Given the description of an element on the screen output the (x, y) to click on. 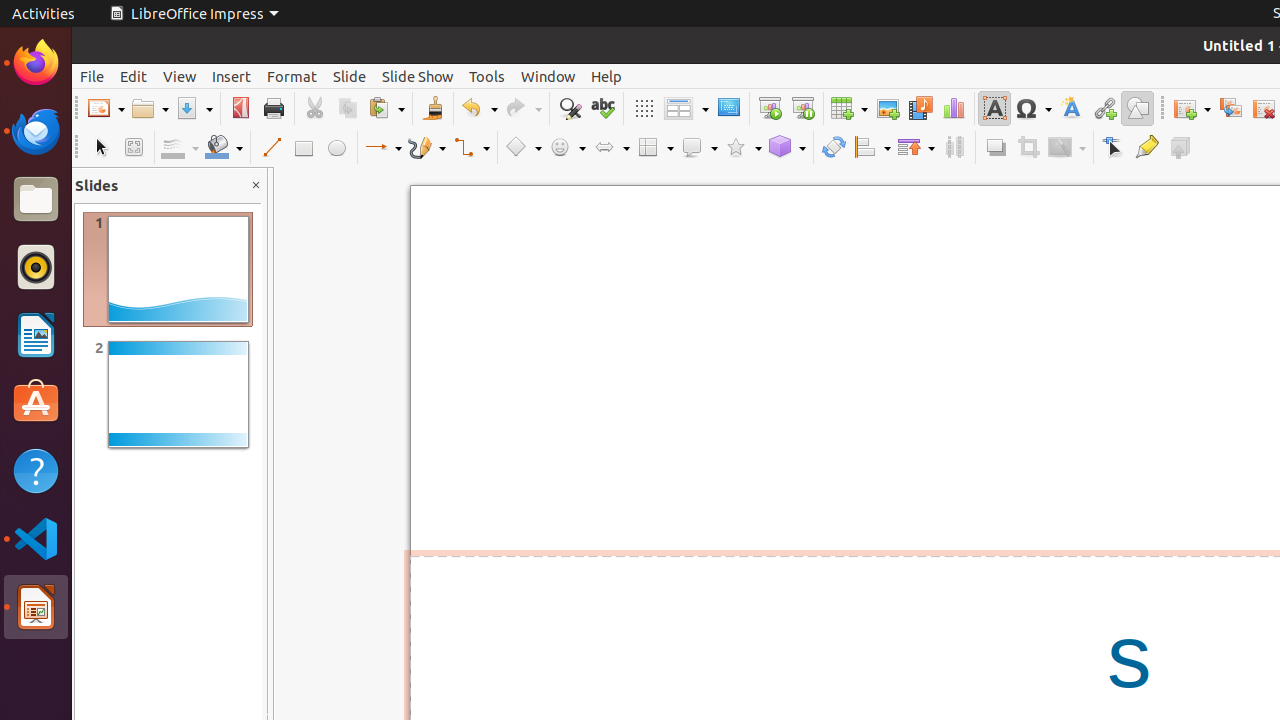
Files Element type: push-button (36, 199)
Ellipse Element type: push-button (336, 147)
Master Slide Element type: push-button (728, 108)
Cut Element type: push-button (314, 108)
Draw Functions Element type: toggle-button (1137, 108)
